Given the description of an element on the screen output the (x, y) to click on. 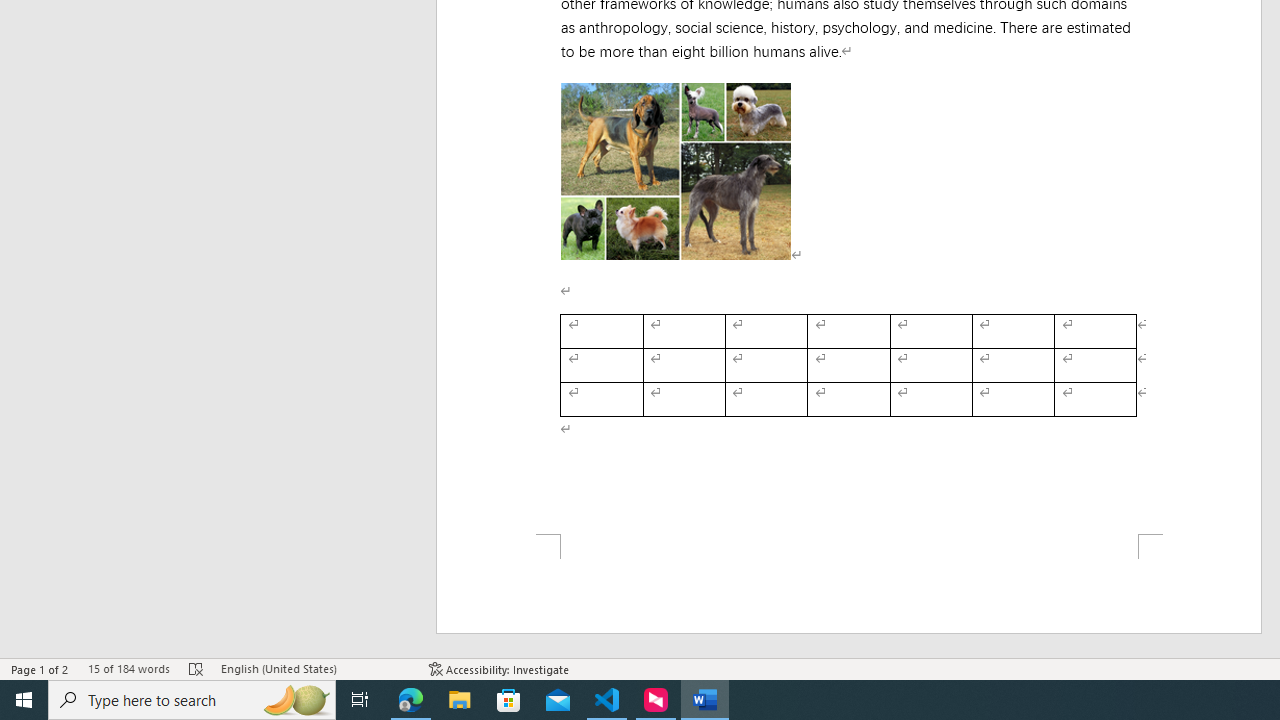
Accessibility Checker Accessibility: Investigate (499, 668)
Word Count 15 of 184 words (128, 668)
Spelling and Grammar Check Errors (196, 668)
Language English (United States) (315, 668)
Morphological variation in six dogs (675, 170)
Page Number Page 1 of 2 (39, 668)
